Given the description of an element on the screen output the (x, y) to click on. 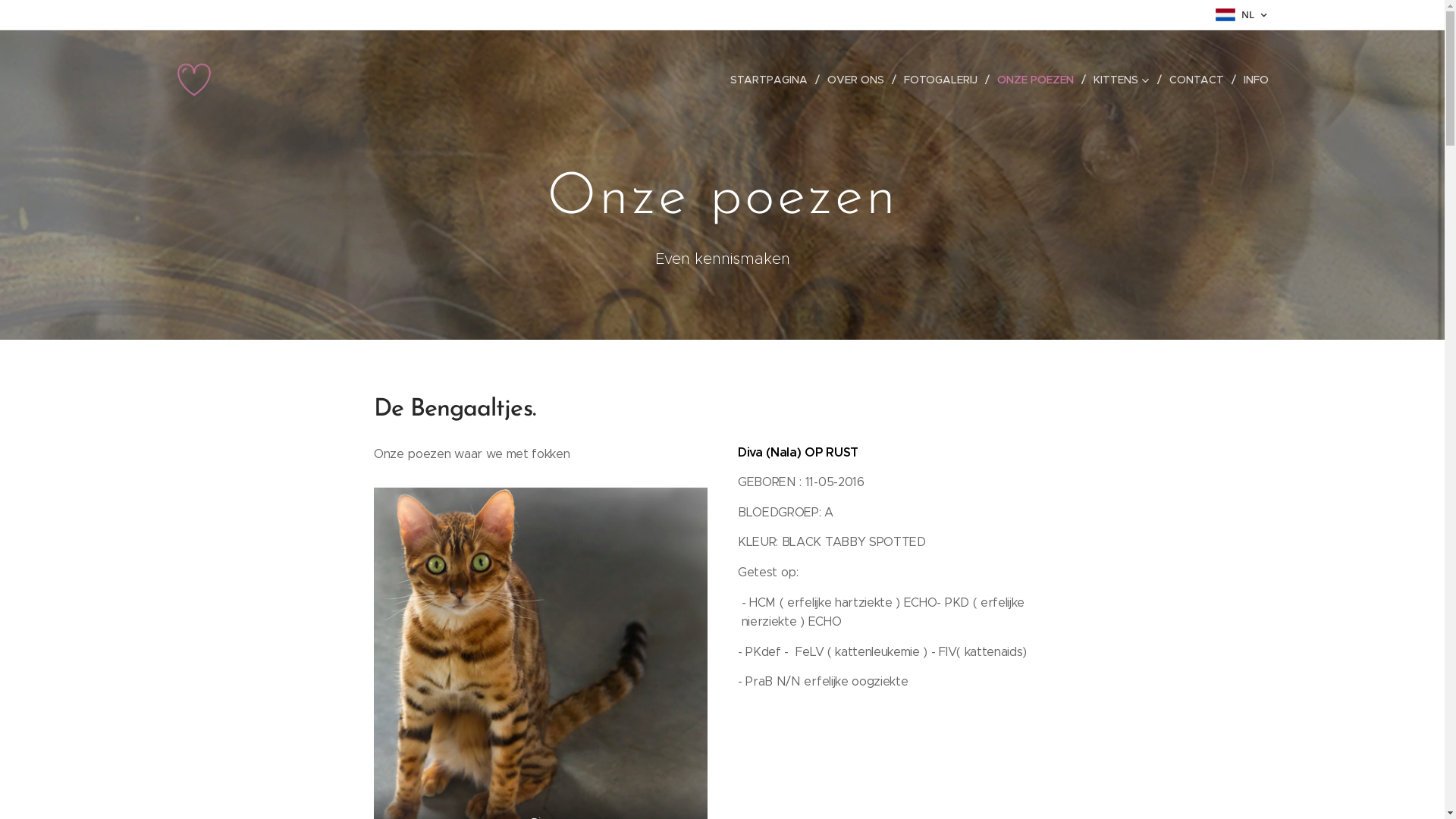
KITTENS Element type: text (1123, 79)
OVER ONS Element type: text (857, 79)
ONZE POEZEN Element type: text (1036, 79)
INFO Element type: text (1252, 79)
CONTACT Element type: text (1198, 79)
FOTOGALERIJ Element type: text (942, 79)
STARTPAGINA Element type: text (772, 79)
